Given the description of an element on the screen output the (x, y) to click on. 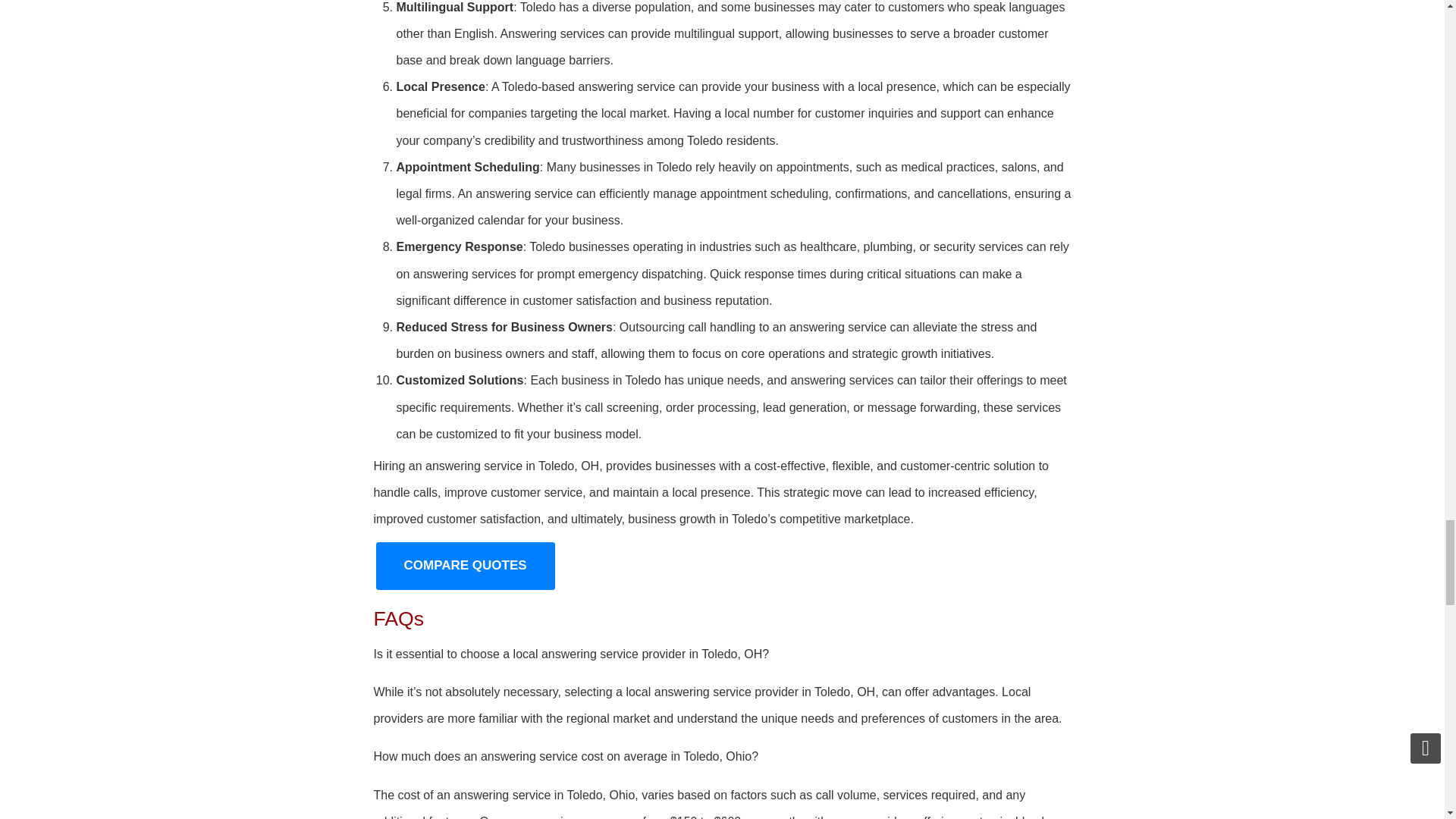
COMPARE QUOTES (464, 565)
